Given the description of an element on the screen output the (x, y) to click on. 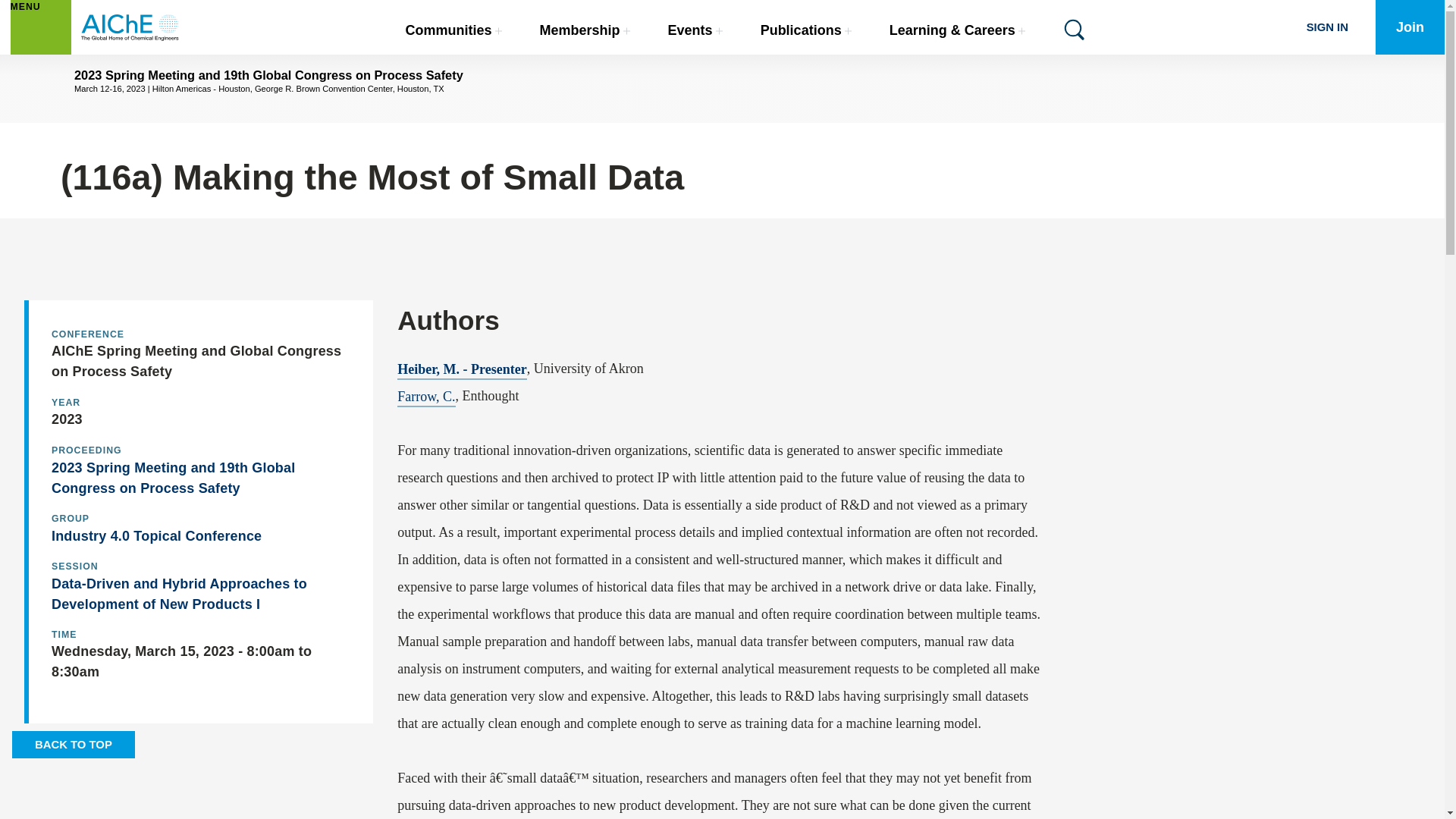
Go to AIChE Home (130, 27)
